Given the description of an element on the screen output the (x, y) to click on. 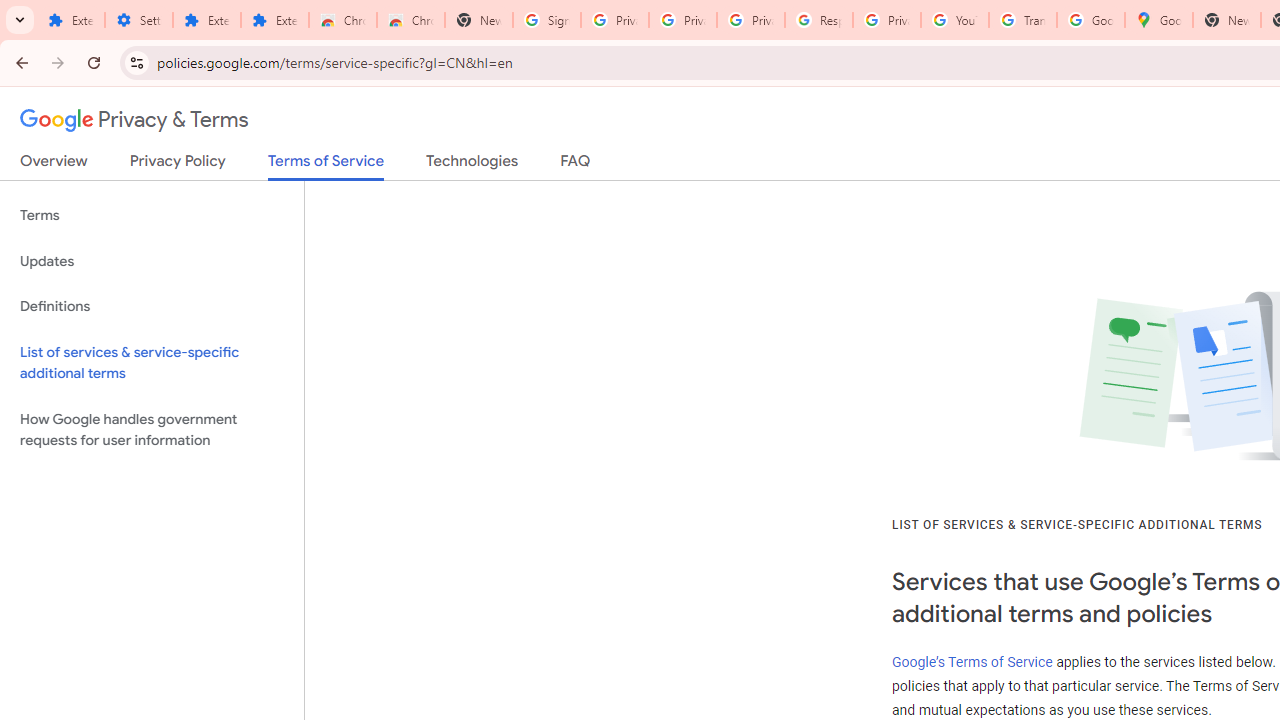
Google Maps (1158, 20)
Extensions (70, 20)
Extensions (274, 20)
Settings (138, 20)
Sign in - Google Accounts (547, 20)
